Given the description of an element on the screen output the (x, y) to click on. 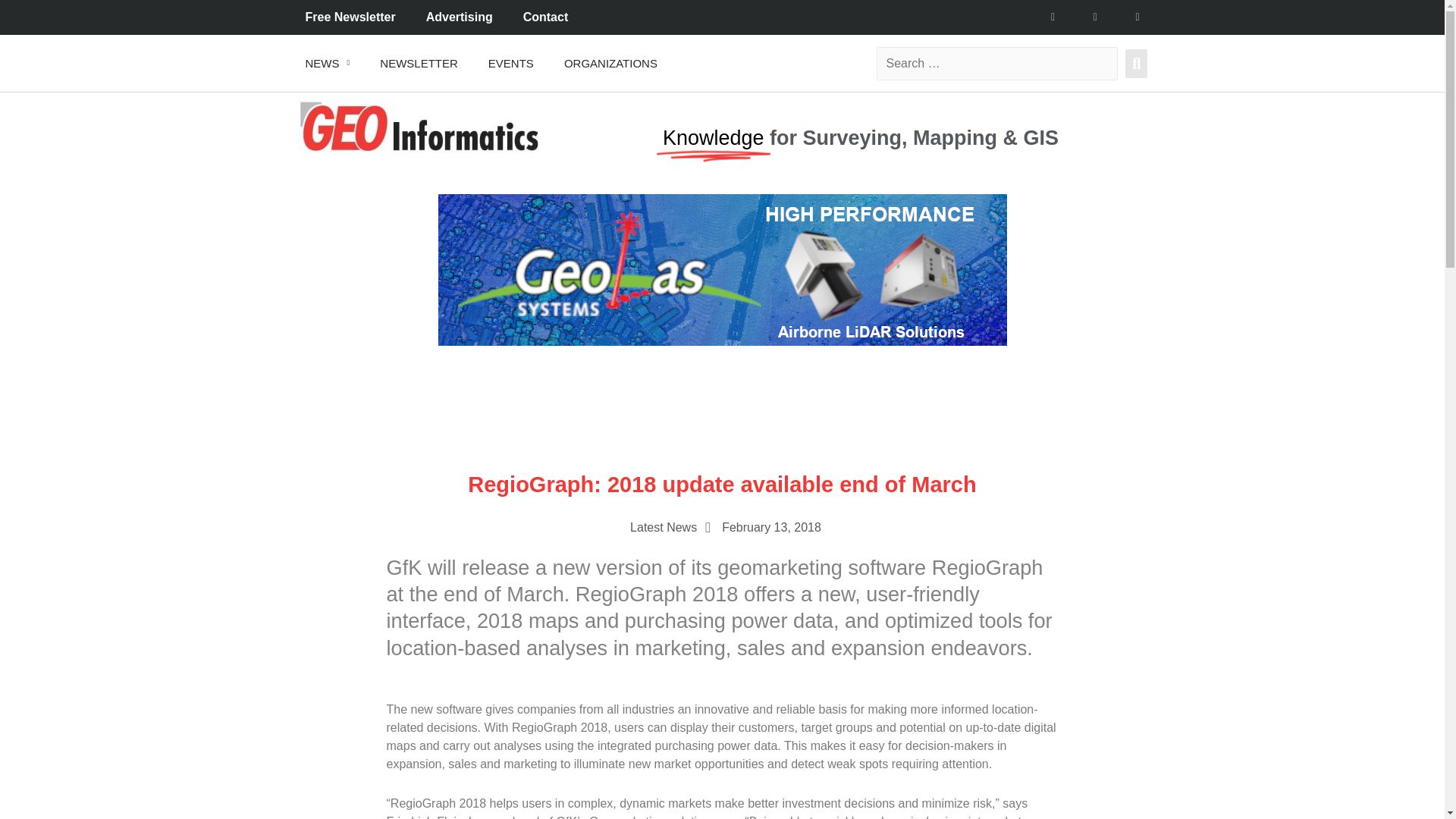
Advertising (459, 17)
Latest News (663, 526)
FREE eNewsletter (419, 62)
Free Newsletter (349, 17)
ORGANIZATIONS (610, 62)
NEWS (327, 62)
Logo-Geoinformatics (418, 126)
February 13, 2018 (760, 527)
EVENTS (510, 62)
News (327, 62)
NEWSLETTER (419, 62)
Contact (545, 17)
